Given the description of an element on the screen output the (x, y) to click on. 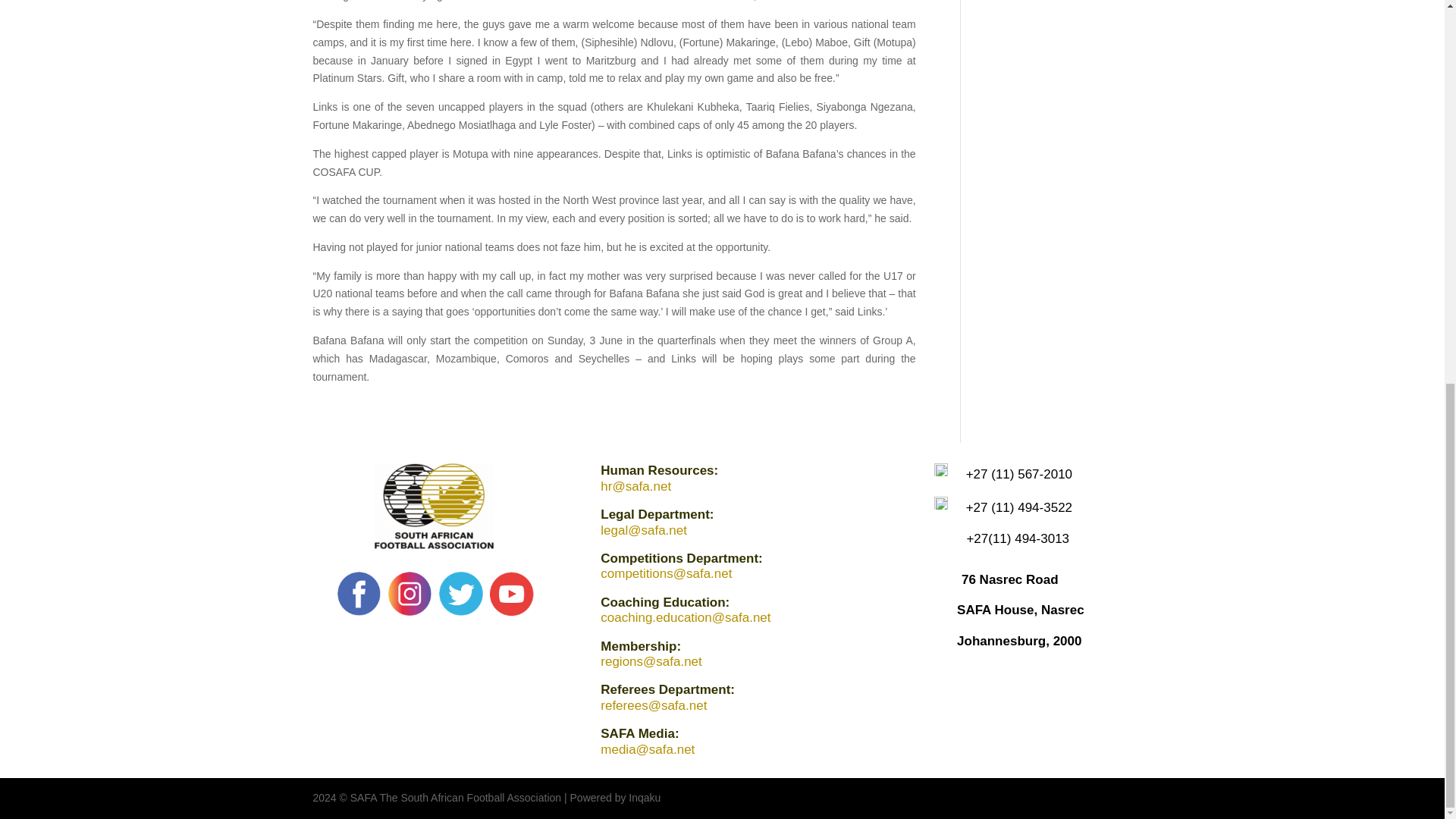
76 Nasrec Road (1009, 579)
SAFA House, Nasrec (1020, 609)
Johannesburg, 2000 (1018, 640)
